Given the description of an element on the screen output the (x, y) to click on. 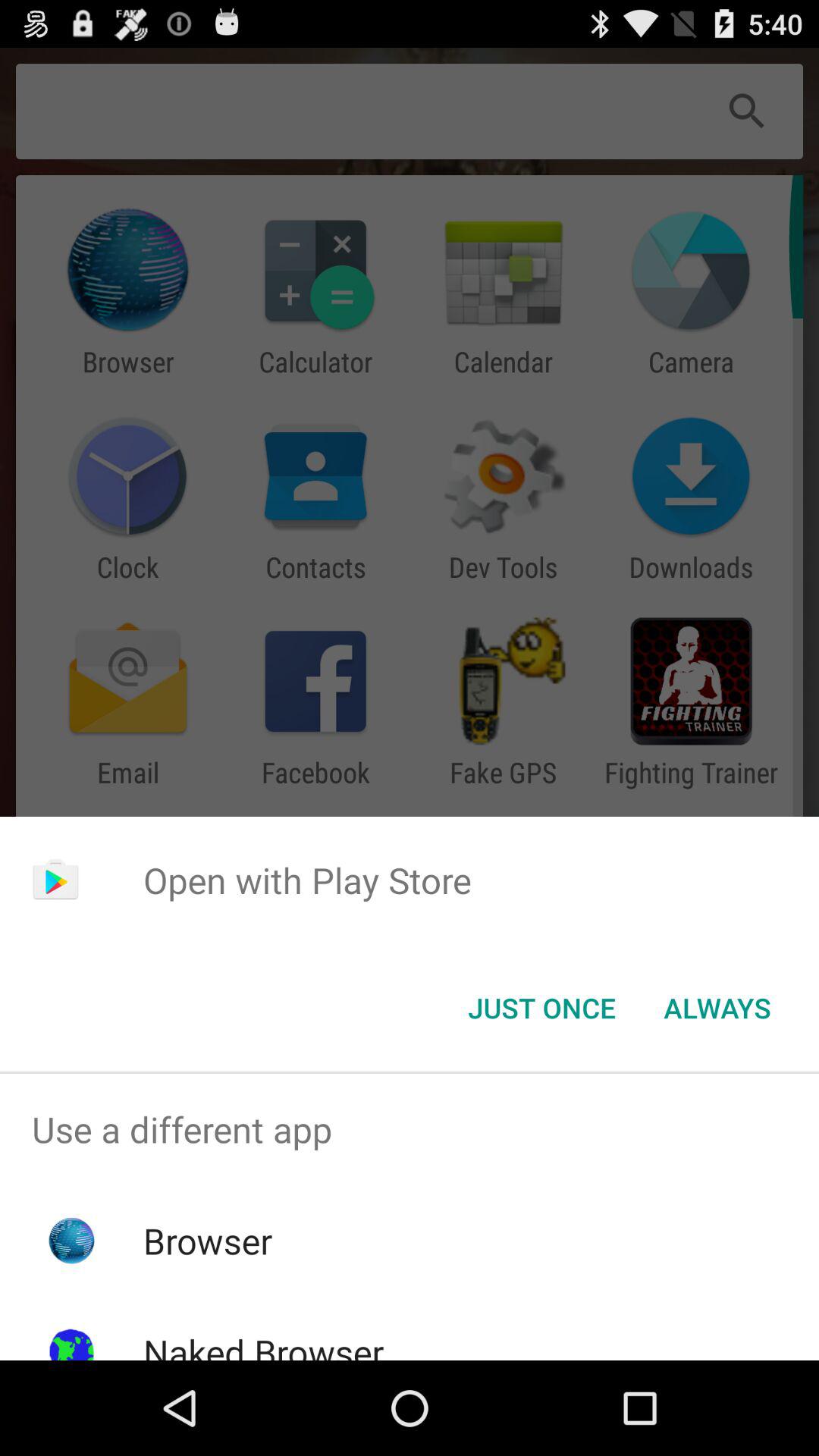
tap the icon above the browser (409, 1129)
